Given the description of an element on the screen output the (x, y) to click on. 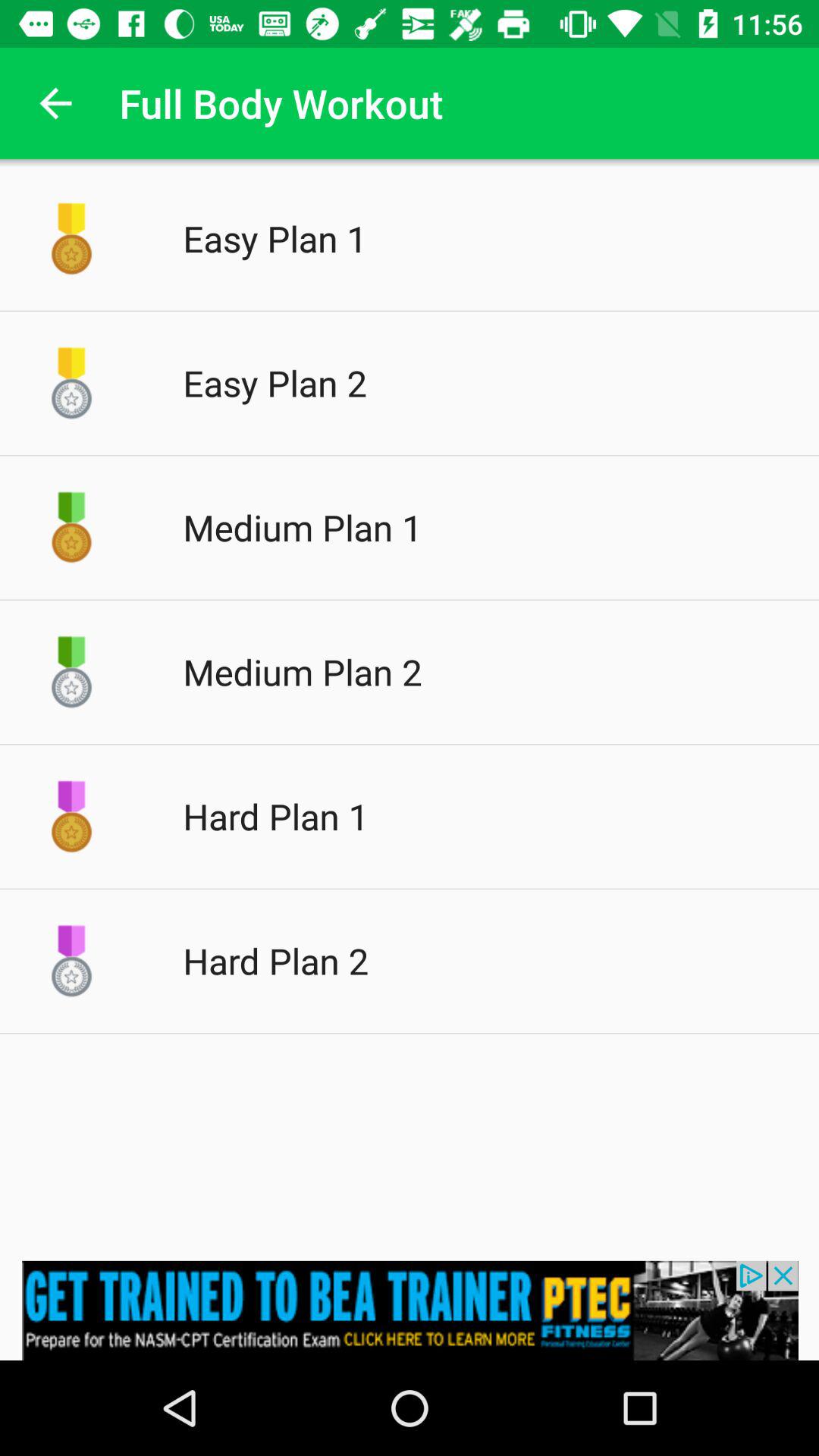
click on icon on the left side of medium plan 2 (71, 671)
click on icon on the left side of hard plan 2 (71, 961)
